Given the description of an element on the screen output the (x, y) to click on. 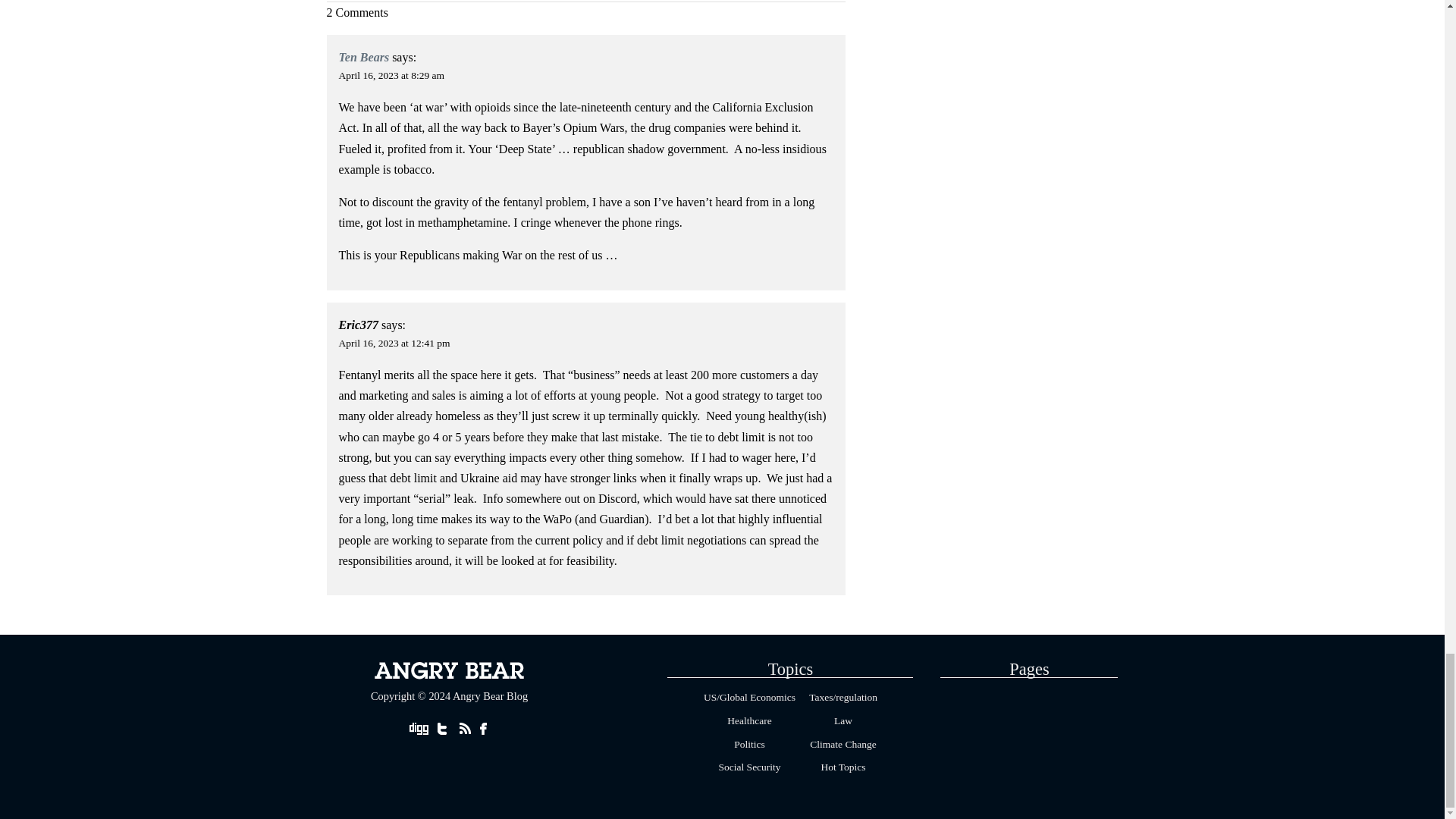
April 16, 2023 at 12:41 pm (394, 342)
Ten Bears (364, 56)
April 16, 2023 at 8:29 am (391, 75)
